Given the description of an element on the screen output the (x, y) to click on. 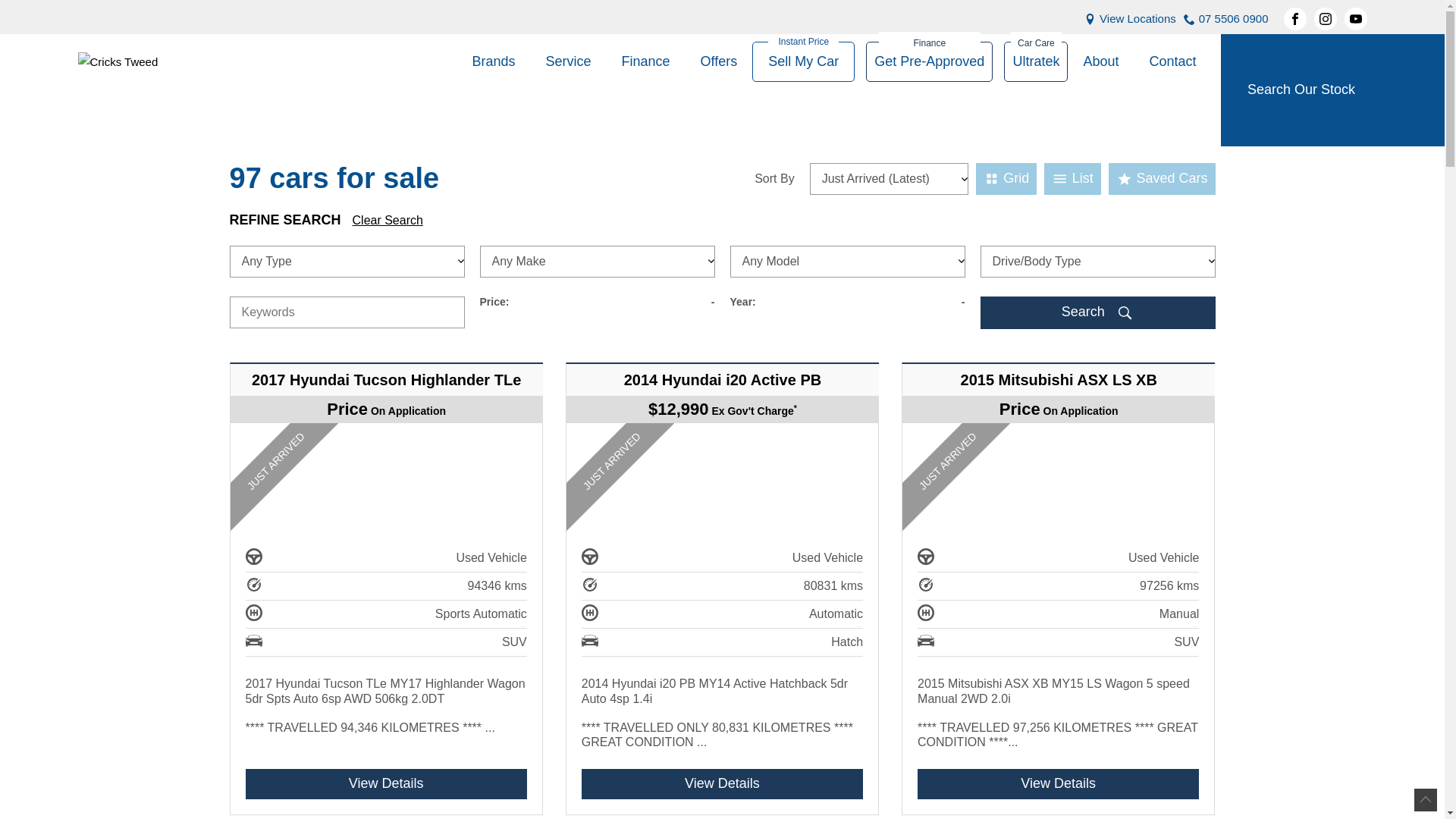
Clear Search Element type: text (387, 220)
List Element type: text (1072, 178)
Sell My Car Element type: text (803, 61)
Ultratek Element type: text (1035, 61)
Get Pre-Approved Element type: text (929, 61)
View Details Element type: text (721, 783)
07 5506 0900 Element type: text (1233, 18)
Brands Element type: text (493, 61)
View Details Element type: text (1057, 783)
Offers Element type: text (719, 61)
Search Our Stock Element type: text (1332, 90)
View Details Element type: text (386, 783)
View Locations Element type: text (1137, 18)
Service Element type: text (568, 61)
Saved Cars Element type: text (1161, 178)
About Element type: text (1100, 61)
Contact Element type: text (1164, 61)
Search Element type: text (1096, 312)
Finance Element type: text (645, 61)
Grid Element type: text (1006, 178)
